Given the description of an element on the screen output the (x, y) to click on. 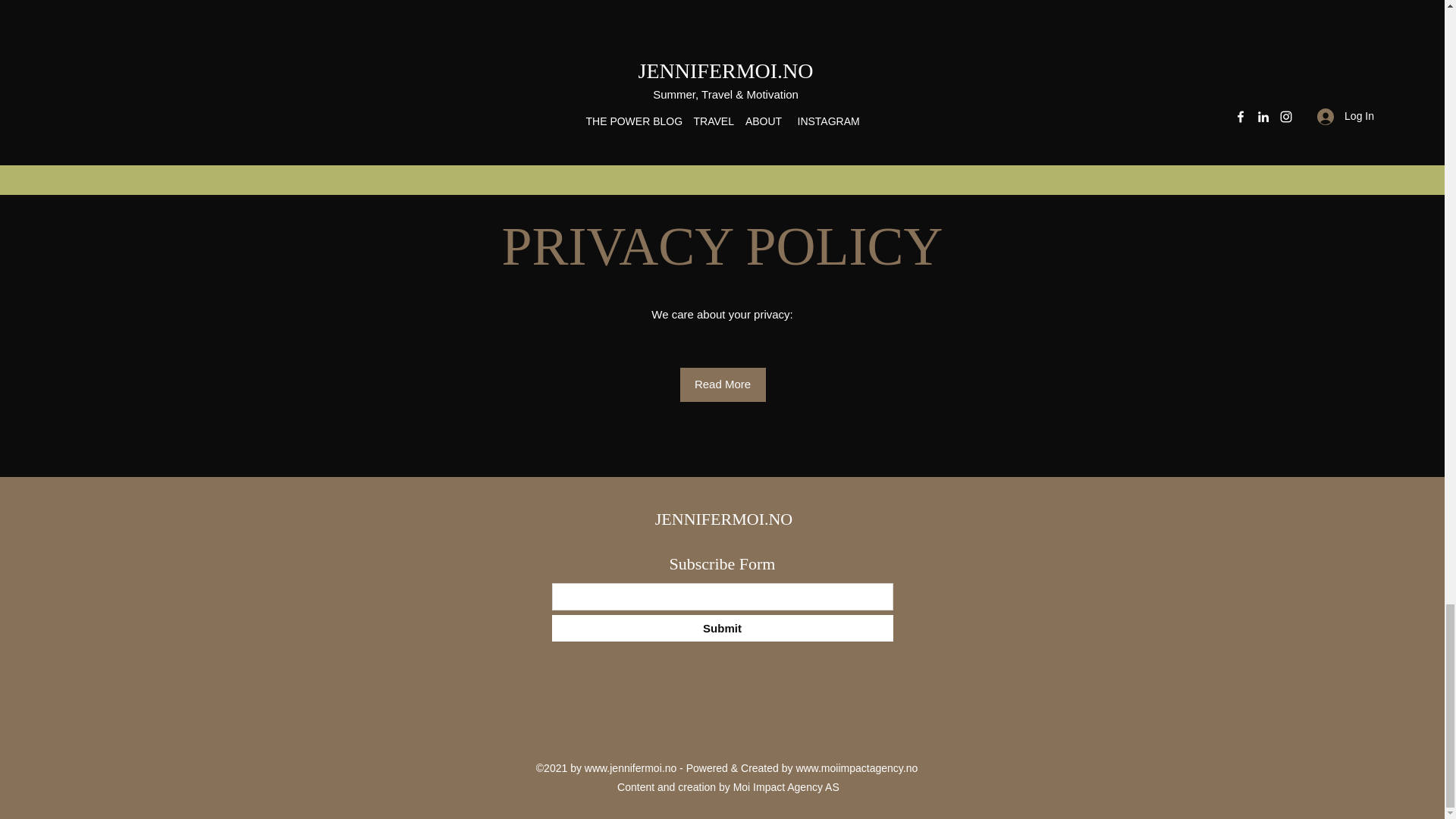
Submit (722, 628)
www.moiimpactagency.no (855, 767)
www.jennifermoi.no (631, 767)
Read More (722, 384)
